Given the description of an element on the screen output the (x, y) to click on. 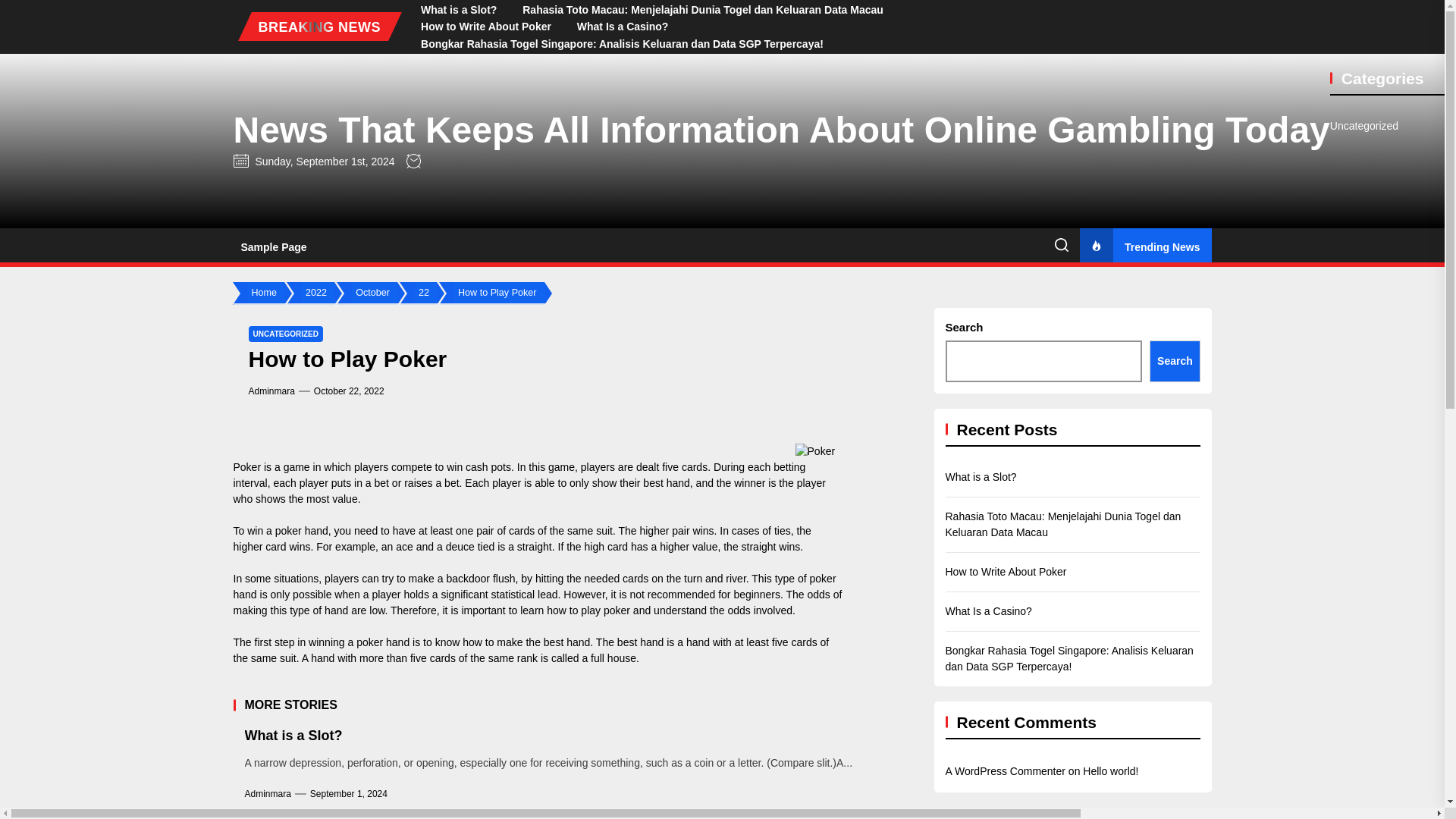
Sample Page (273, 246)
News That Keeps All Information About Online Gambling Today (781, 130)
How to Write About Poker (485, 27)
What Is a Casino? (622, 27)
What is a Slot? (458, 9)
What Is a Casino? (622, 27)
